Given the description of an element on the screen output the (x, y) to click on. 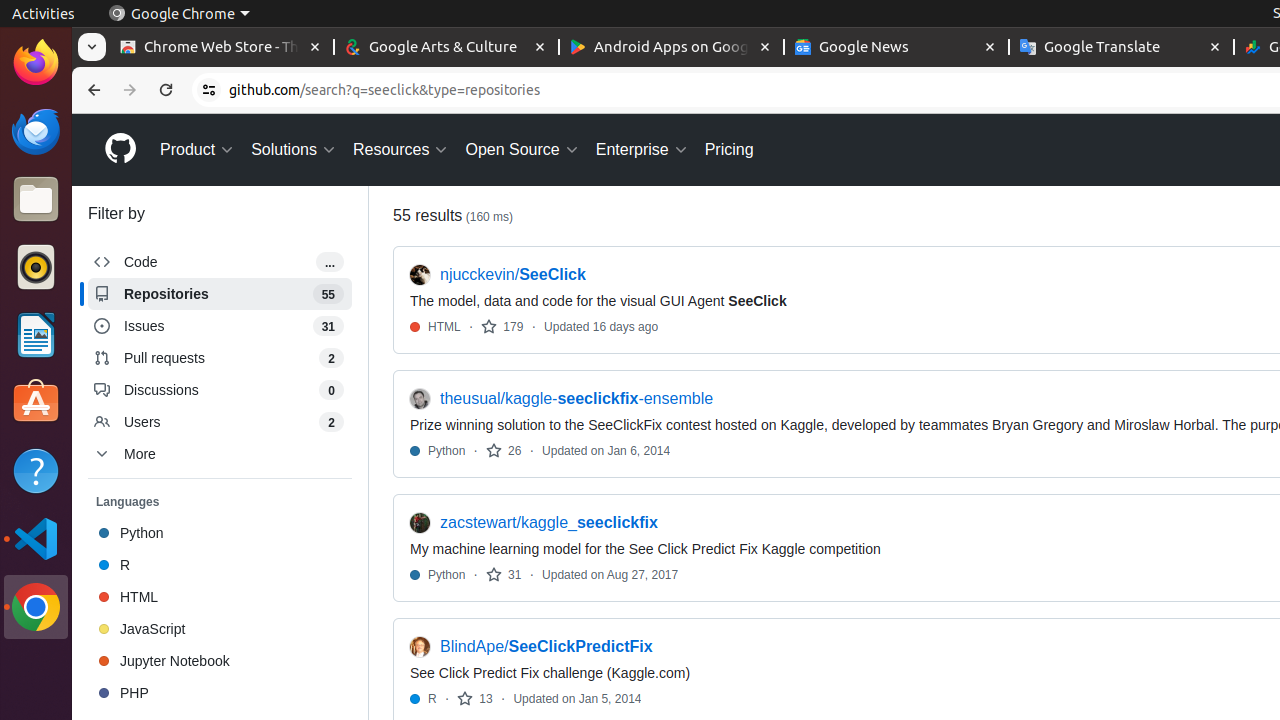
‎HTML‎ Element type: link (220, 597)
Homepage Element type: link (120, 150)
Open Source Element type: push-button (522, 150)
‎Python‎ Element type: link (220, 533)
Google Arts & Culture - Memory usage - 60.0 MB Element type: page-tab (446, 47)
